Given the description of an element on the screen output the (x, y) to click on. 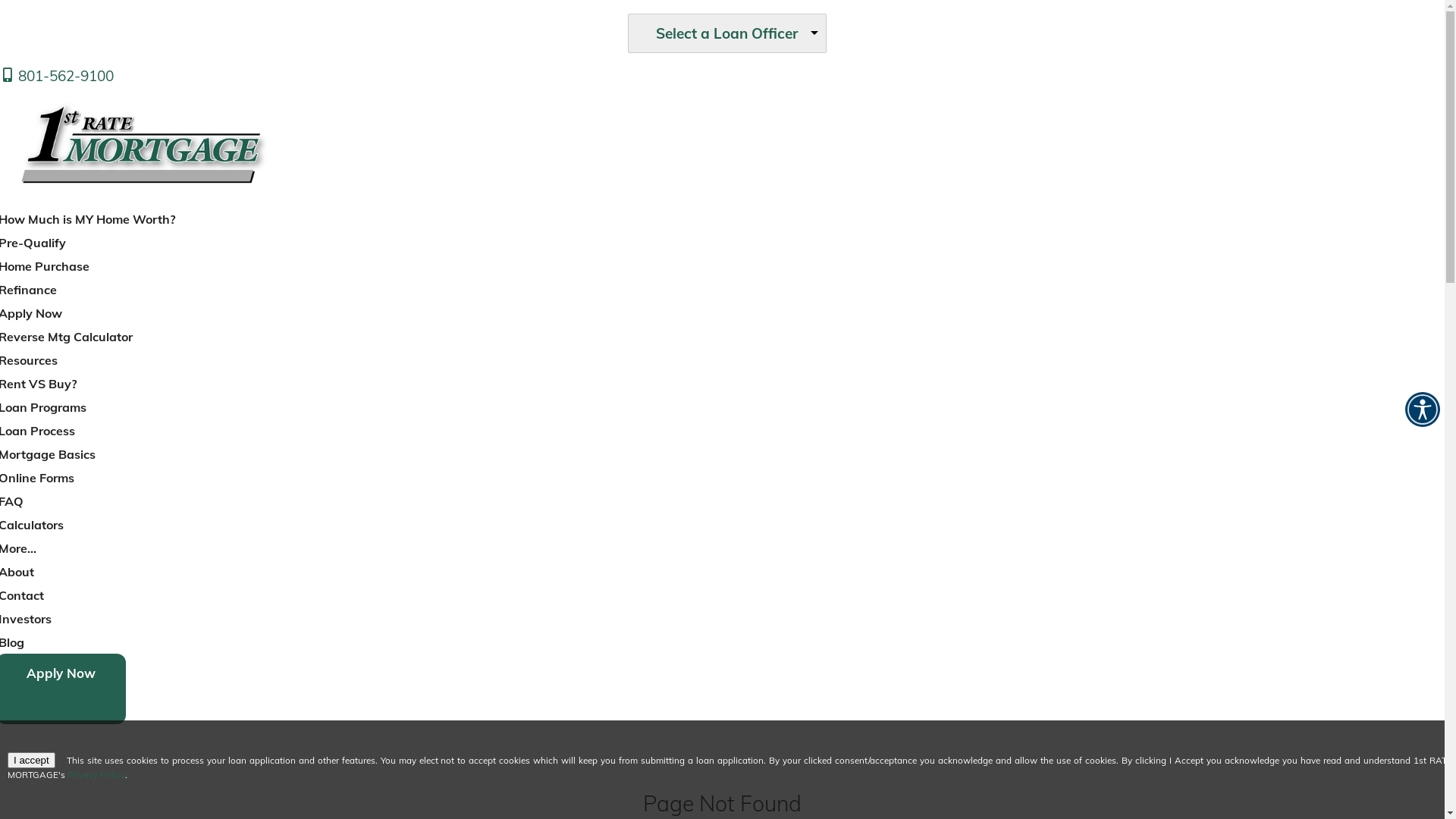
801-562-9100 Element type: text (56, 75)
Privacy Policy Element type: text (96, 774)
I accept Element type: text (31, 760)
Select a Loan Officer Element type: text (726, 32)
